Given the description of an element on the screen output the (x, y) to click on. 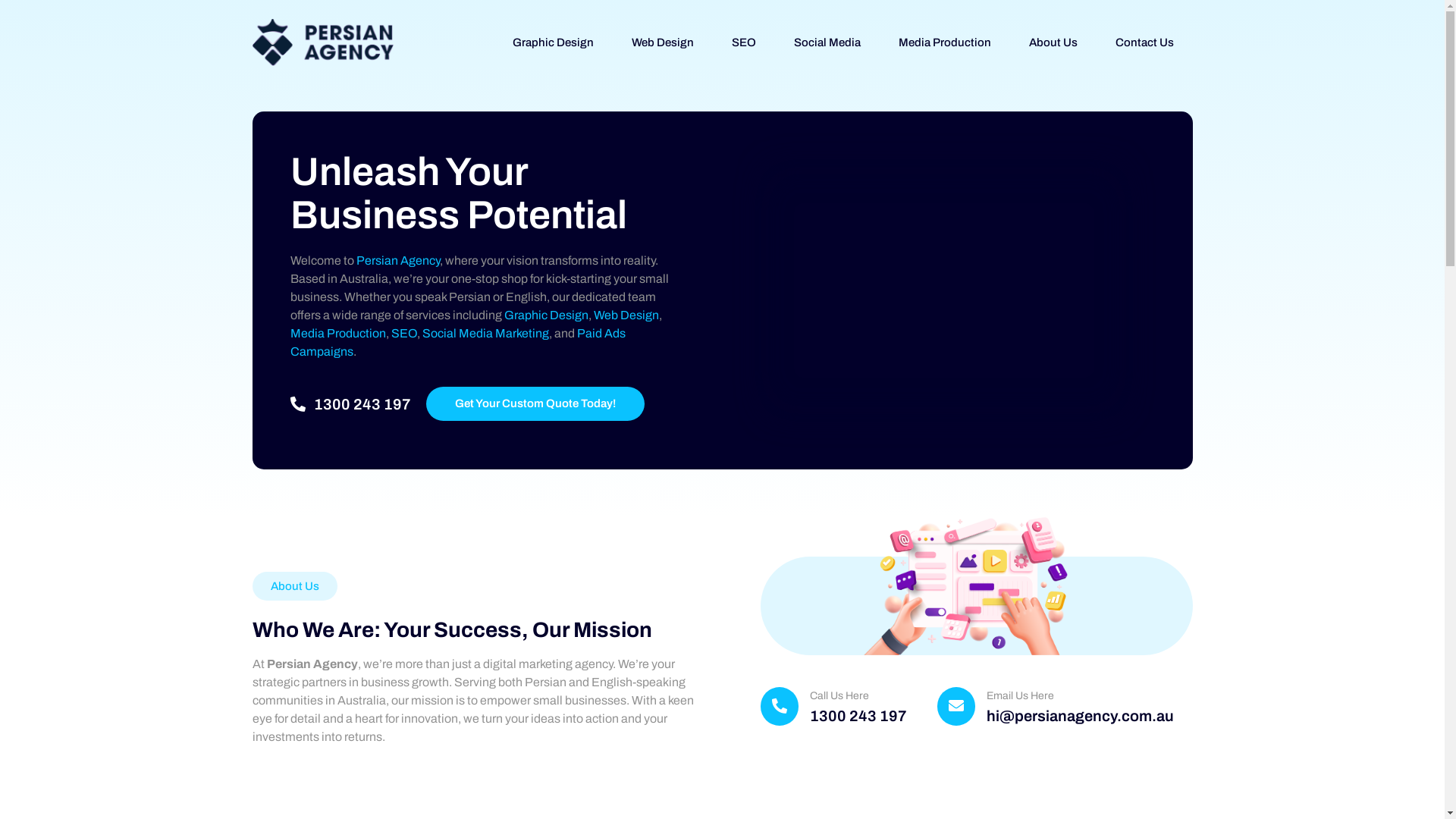
Graphic Design Element type: text (552, 42)
SEO Element type: text (404, 332)
Get Your Custom Quote Today! Element type: text (535, 403)
Contact Us Element type: text (1143, 42)
Web Design Element type: text (625, 314)
Graphic Design Element type: text (545, 314)
Web Design Element type: text (661, 42)
Media Production Element type: text (943, 42)
Social Media Element type: text (826, 42)
Media Production Element type: text (337, 332)
Social Media Marketing Element type: text (484, 332)
SEO Element type: text (742, 42)
About Us Element type: text (1052, 42)
1300 243 197 Element type: text (357, 403)
Persian Agency Element type: text (397, 260)
Paid Ads Campaigns Element type: text (456, 341)
